Given the description of an element on the screen output the (x, y) to click on. 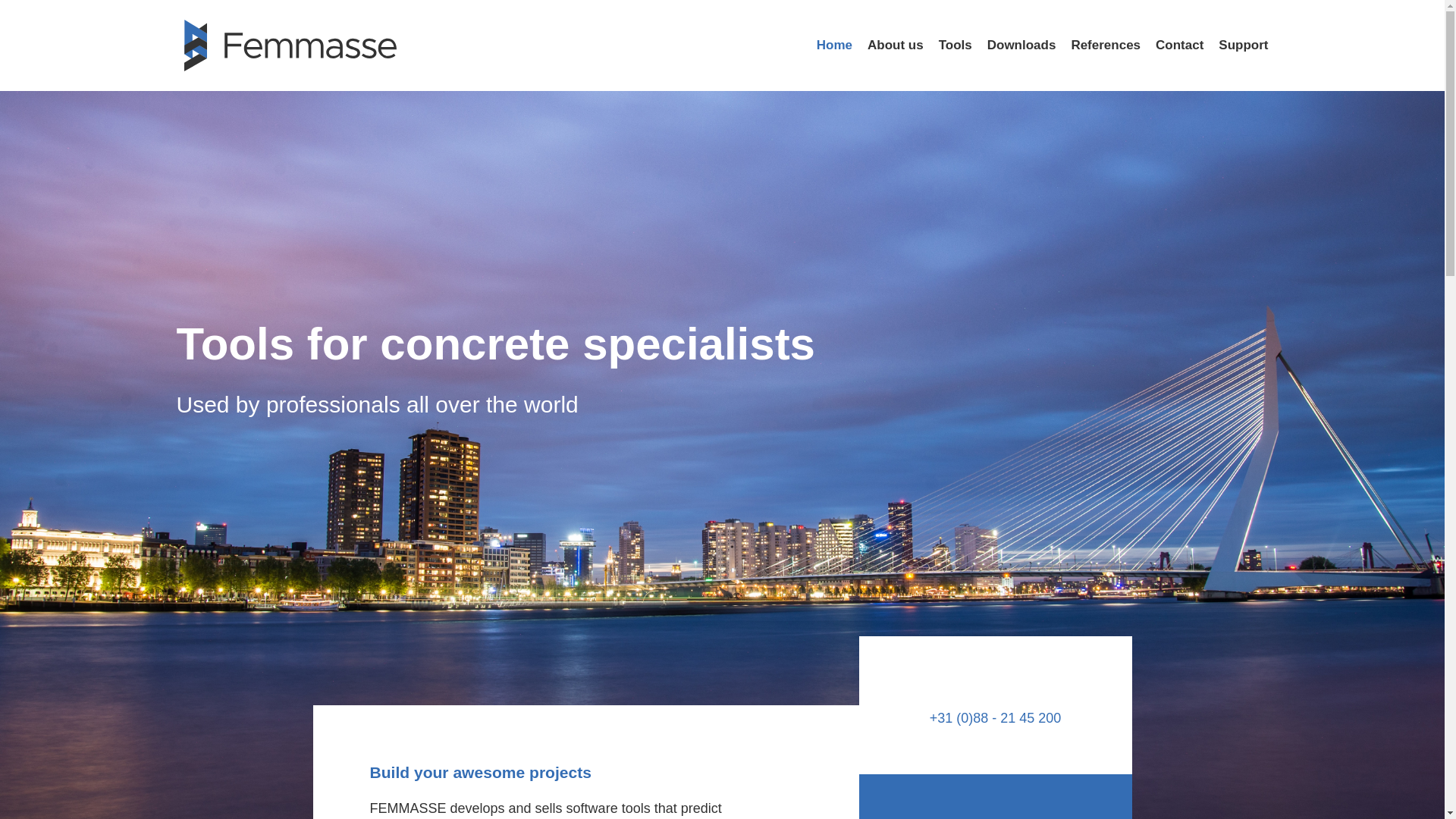
Contact (1180, 44)
Home (833, 44)
Support (1243, 44)
References (1105, 44)
Tools (955, 44)
Downloads (1022, 44)
About us (895, 44)
